Given the description of an element on the screen output the (x, y) to click on. 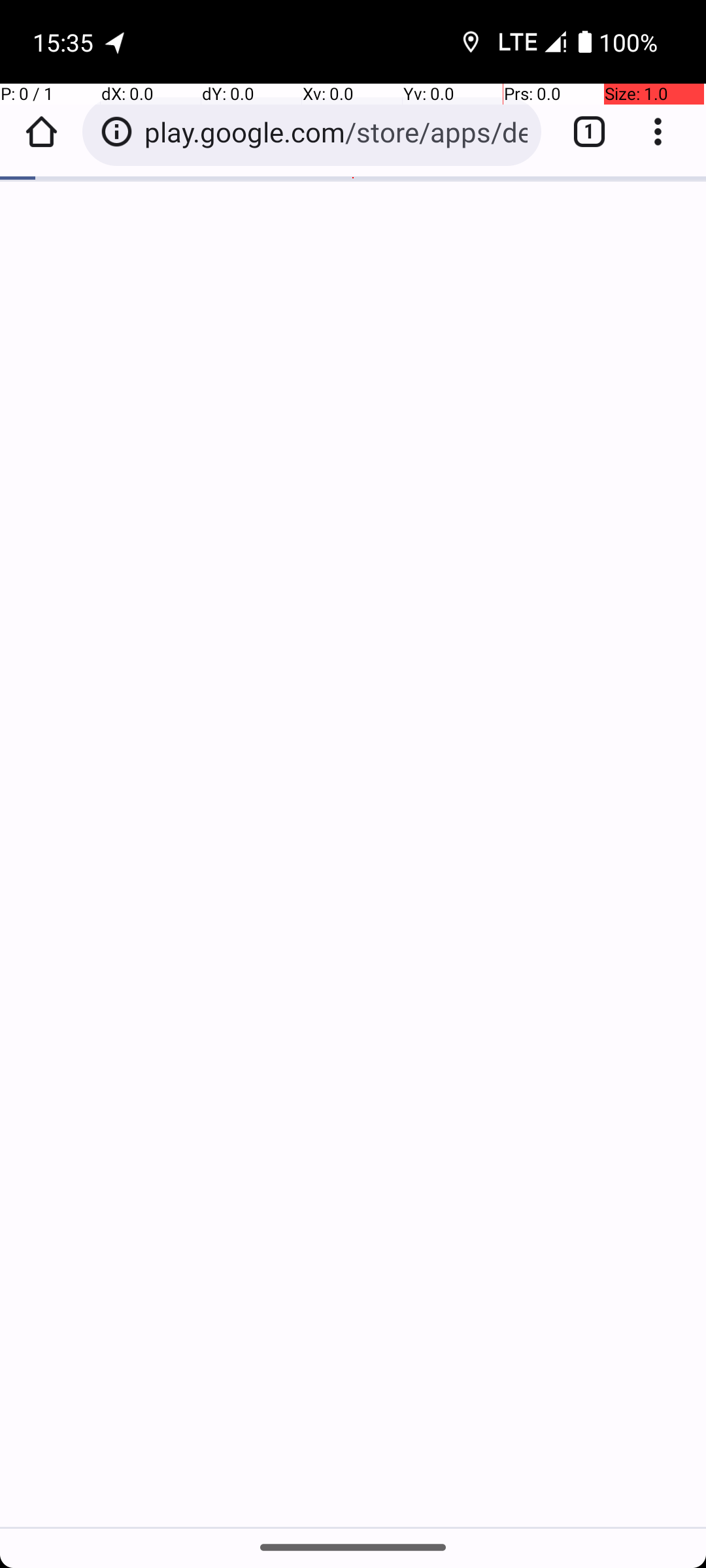
play.google.com/store/apps/details?id=com.google.android.apps.tachyon Element type: android.widget.EditText (335, 131)
